Given the description of an element on the screen output the (x, y) to click on. 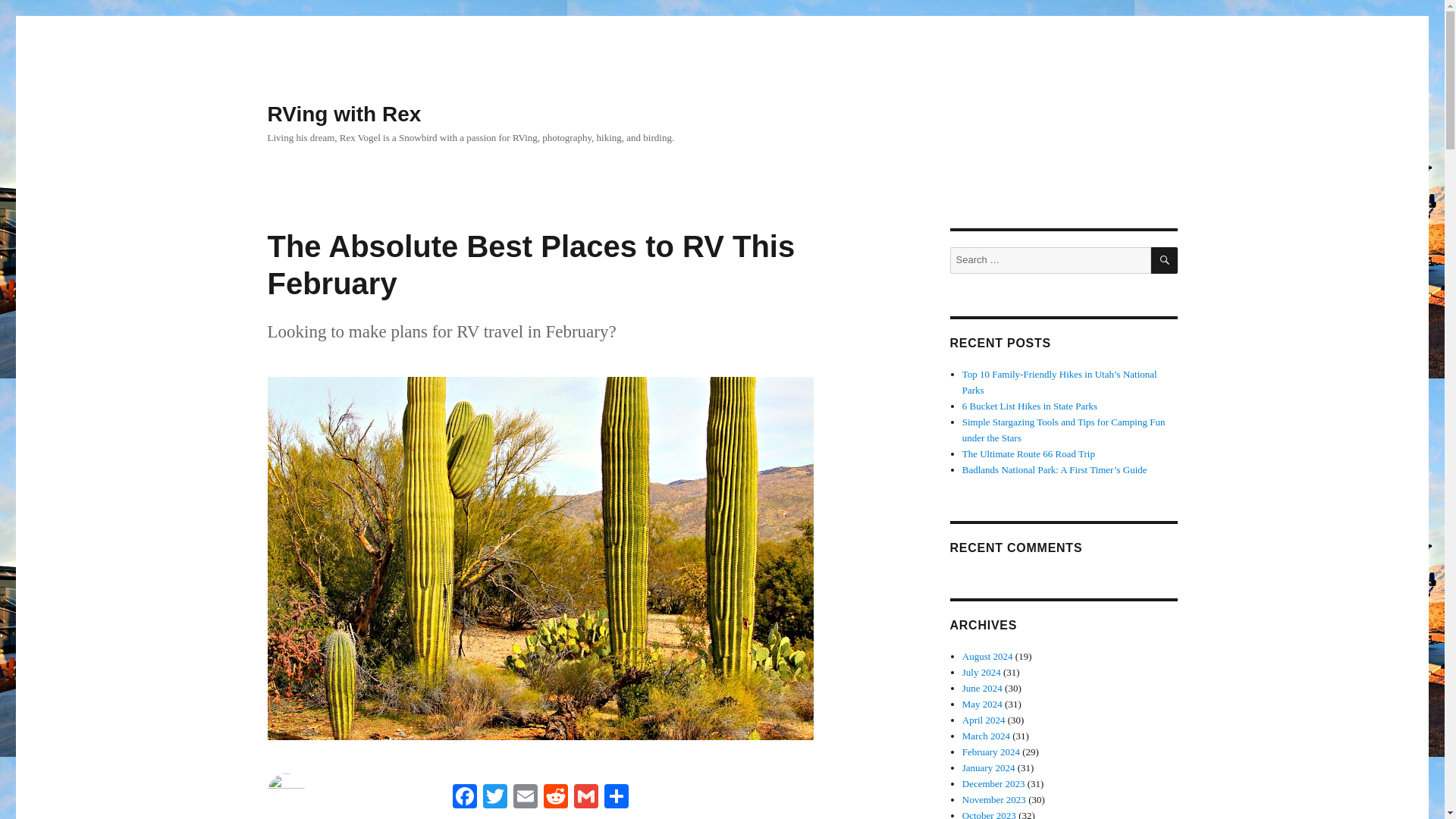
vogelontheroad (300, 818)
Facebook (463, 797)
6 Bucket List Hikes in State Parks (1029, 405)
May 2024 (982, 704)
Email (524, 797)
Reddit (555, 797)
April 2024 (984, 719)
Twitter (494, 797)
December 2023 (993, 783)
June 2024 (982, 687)
